Given the description of an element on the screen output the (x, y) to click on. 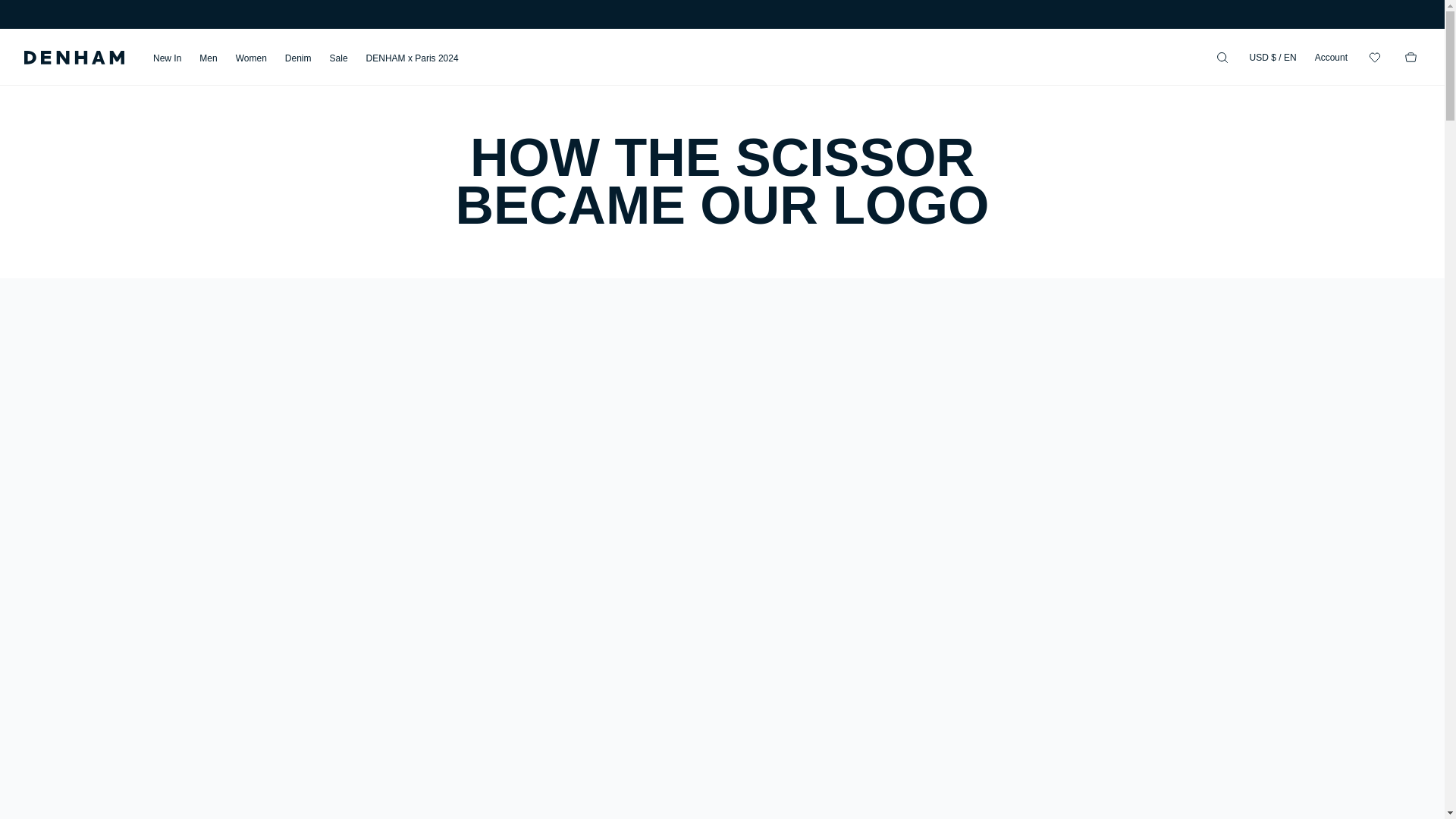
Women (250, 58)
New In (166, 58)
DENHAM x Paris 2024 (412, 58)
Denim (298, 58)
Men (207, 58)
Account (1331, 56)
Sale (338, 58)
